Given the description of an element on the screen output the (x, y) to click on. 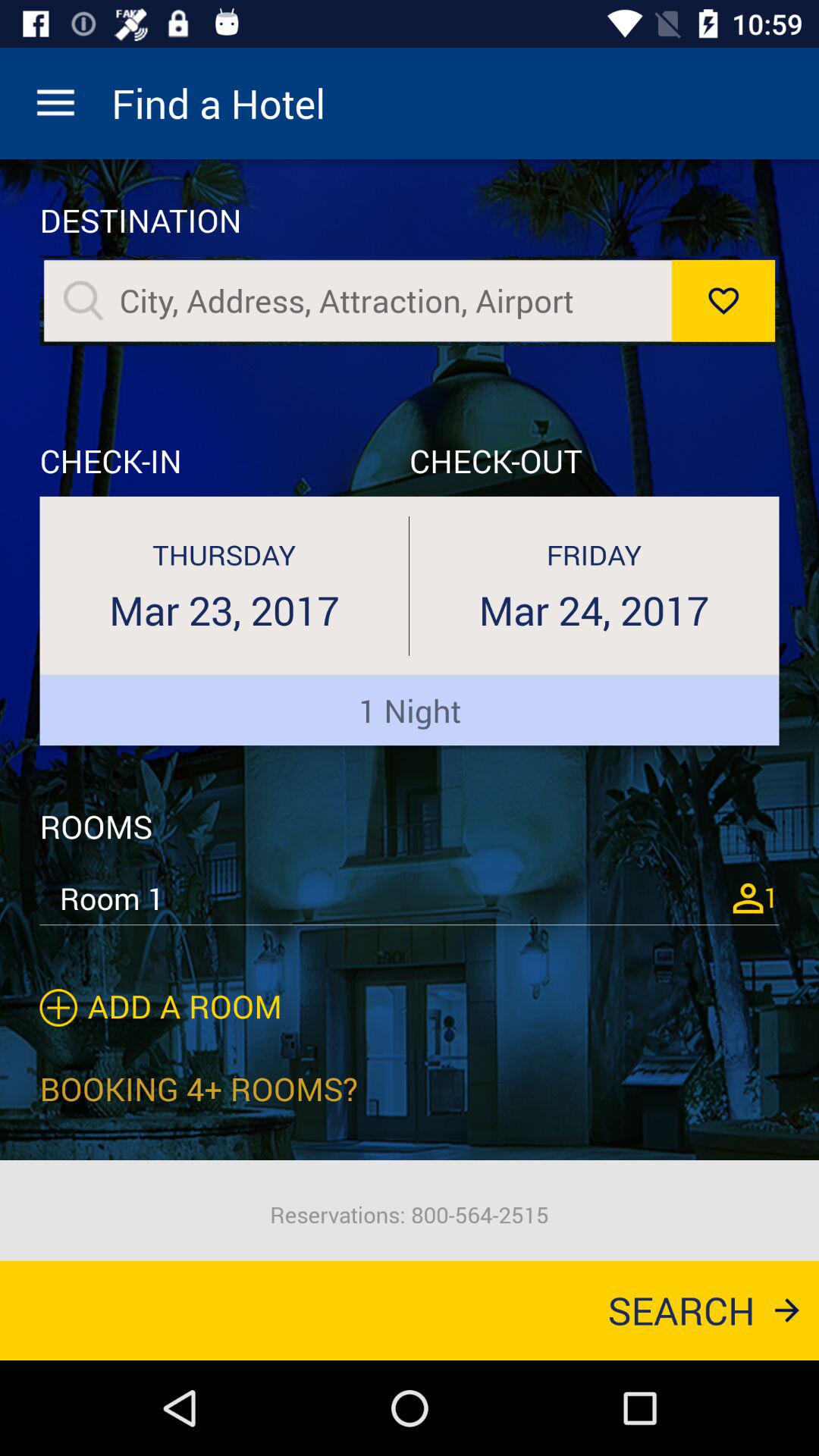
search option (387, 300)
